Given the description of an element on the screen output the (x, y) to click on. 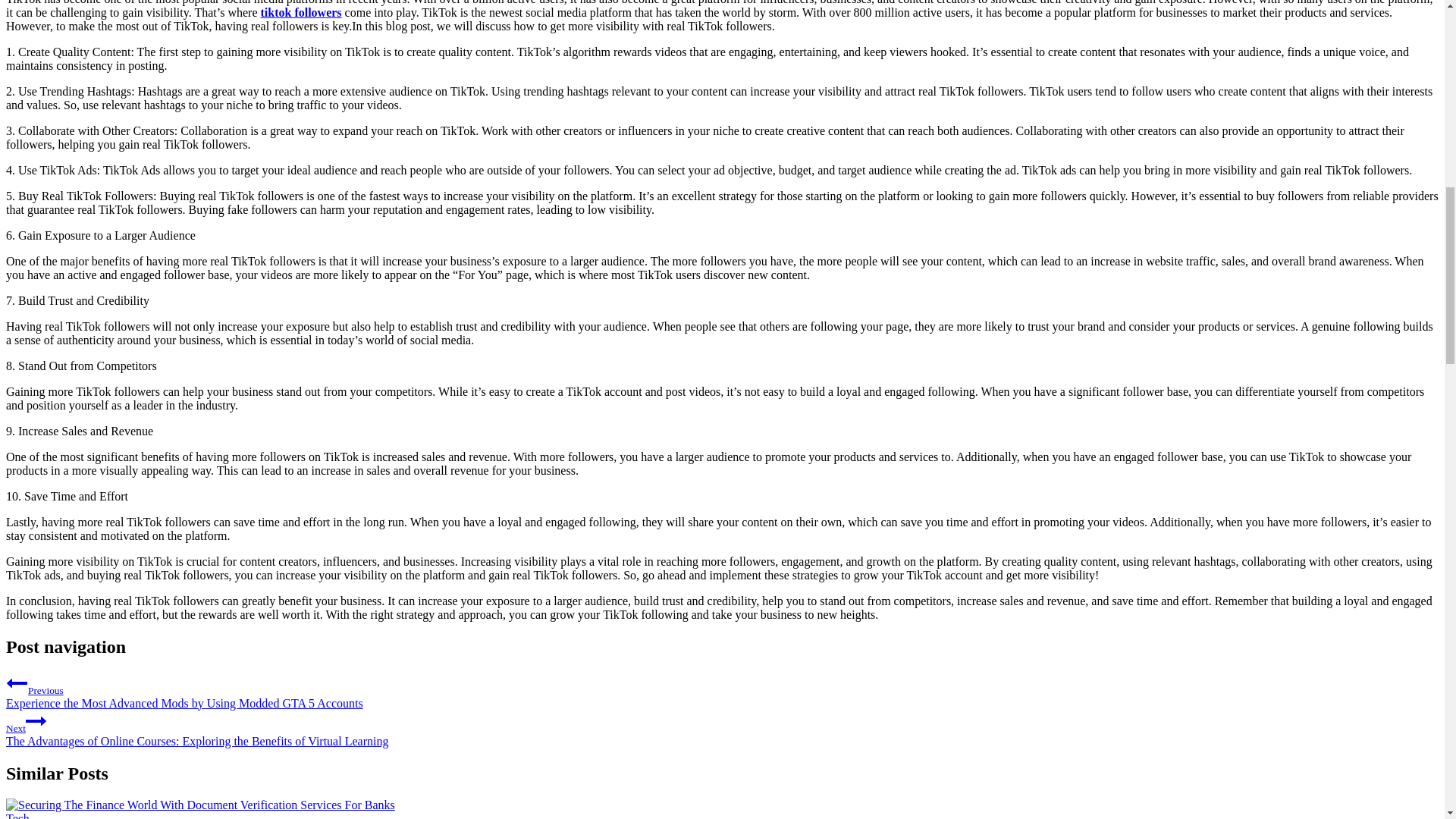
Continue (36, 721)
Previous (16, 682)
